Given the description of an element on the screen output the (x, y) to click on. 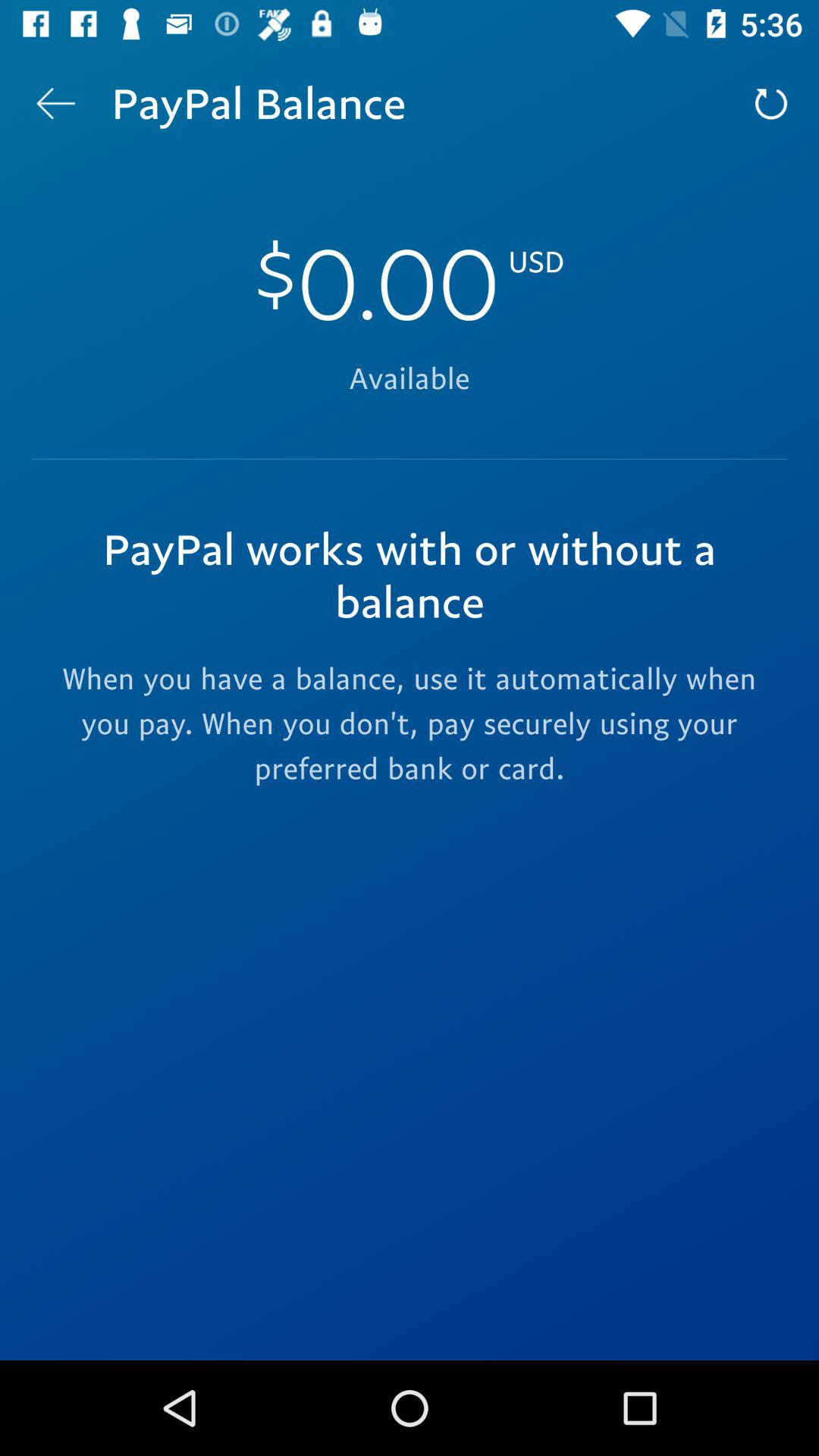
turn off icon at the top left corner (55, 103)
